Given the description of an element on the screen output the (x, y) to click on. 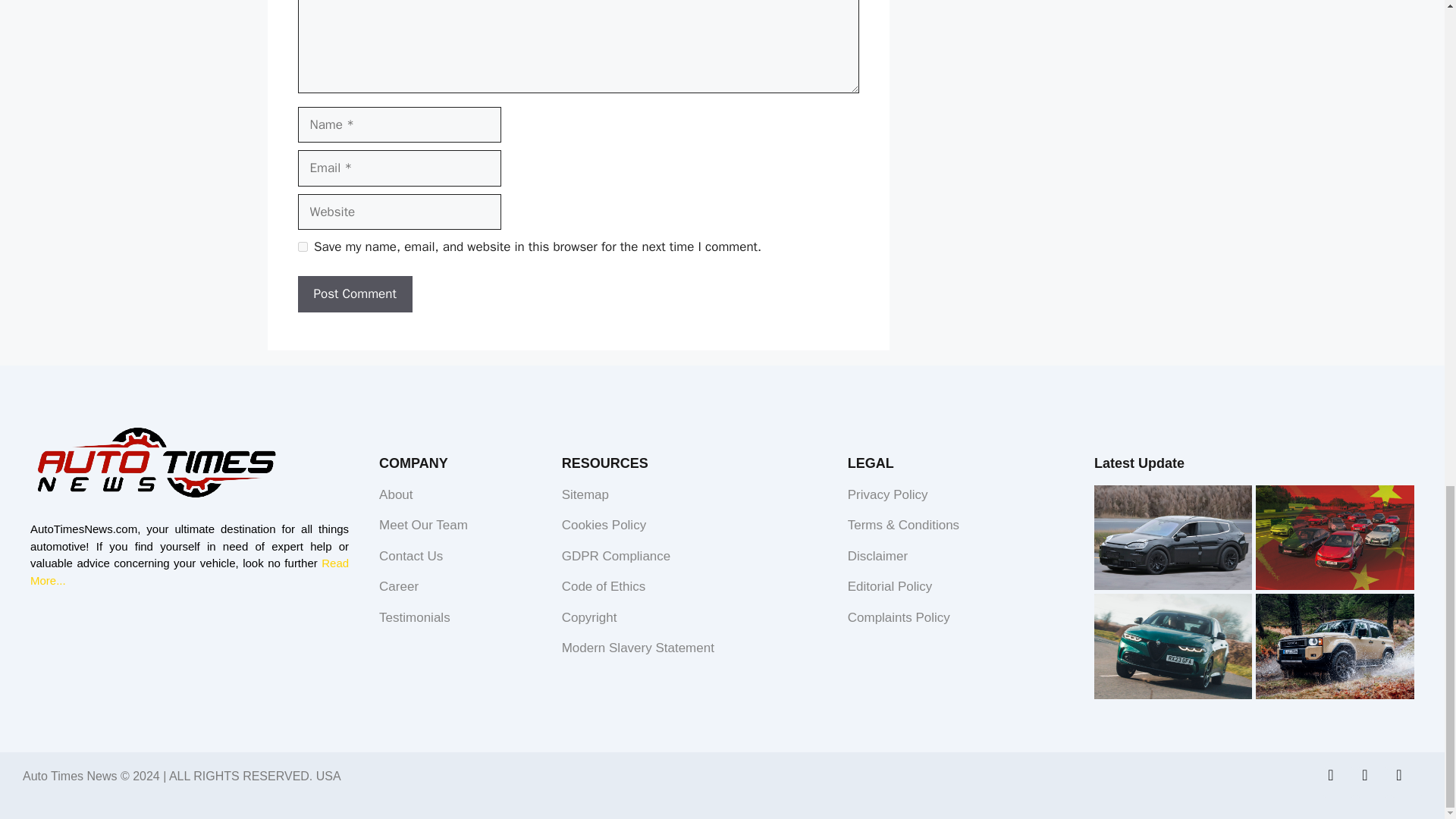
Post Comment (354, 294)
yes (302, 246)
